Given the description of an element on the screen output the (x, y) to click on. 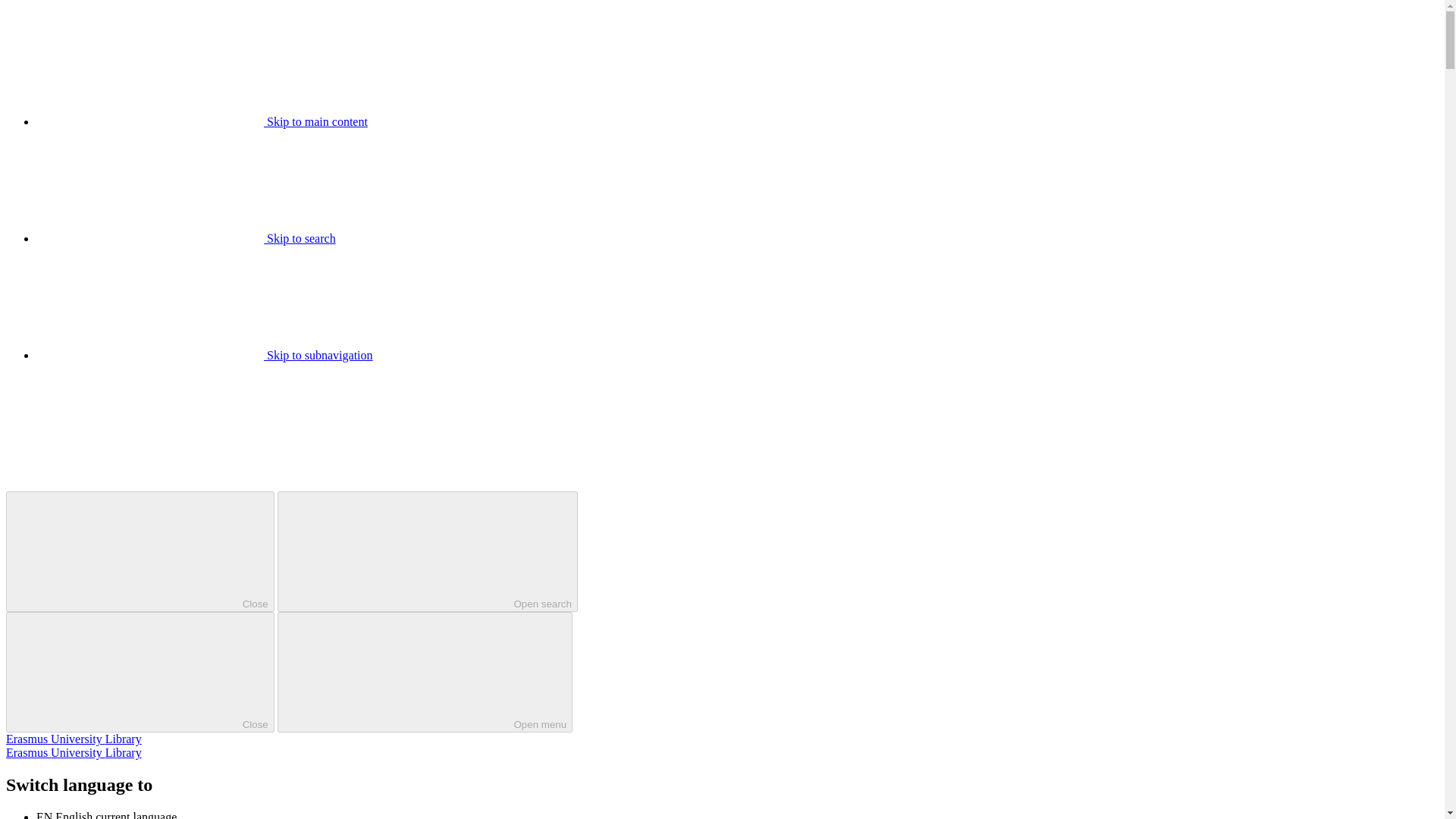
Open menu (425, 671)
Skip to main content (202, 121)
Erasmus University Library (73, 752)
Skip to subnavigation (204, 354)
Erasmus University Library (73, 738)
Open search (428, 551)
Skip to search (186, 237)
Close (140, 671)
Close (140, 551)
